Given the description of an element on the screen output the (x, y) to click on. 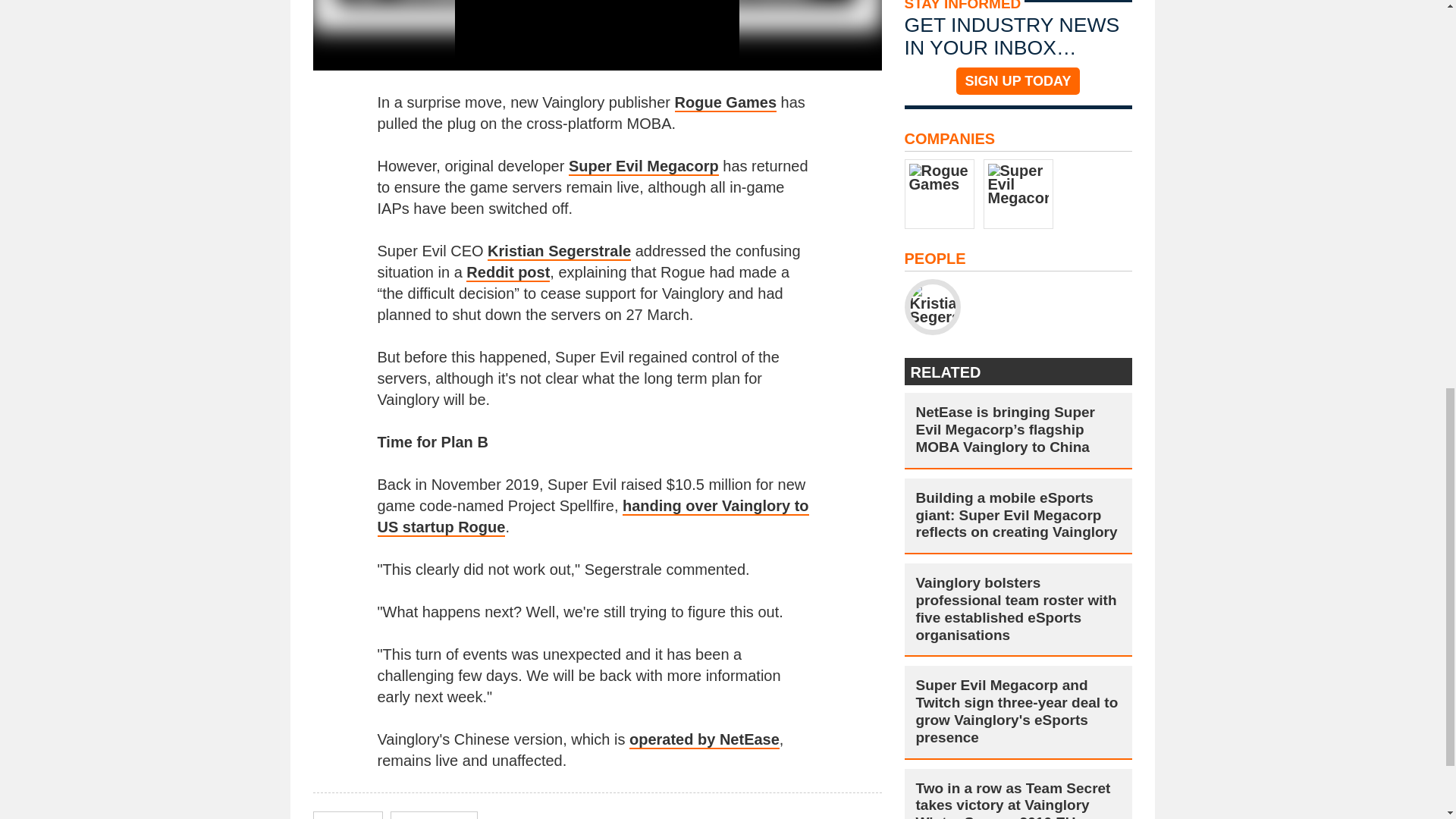
handing over Vainglory to US startup Rogue (593, 517)
Kristian Segerstrale (558, 251)
Reddit post (507, 272)
Rogue Games (725, 103)
Super Evil Megacorp (644, 167)
operated by NetEase (703, 740)
